Given the description of an element on the screen output the (x, y) to click on. 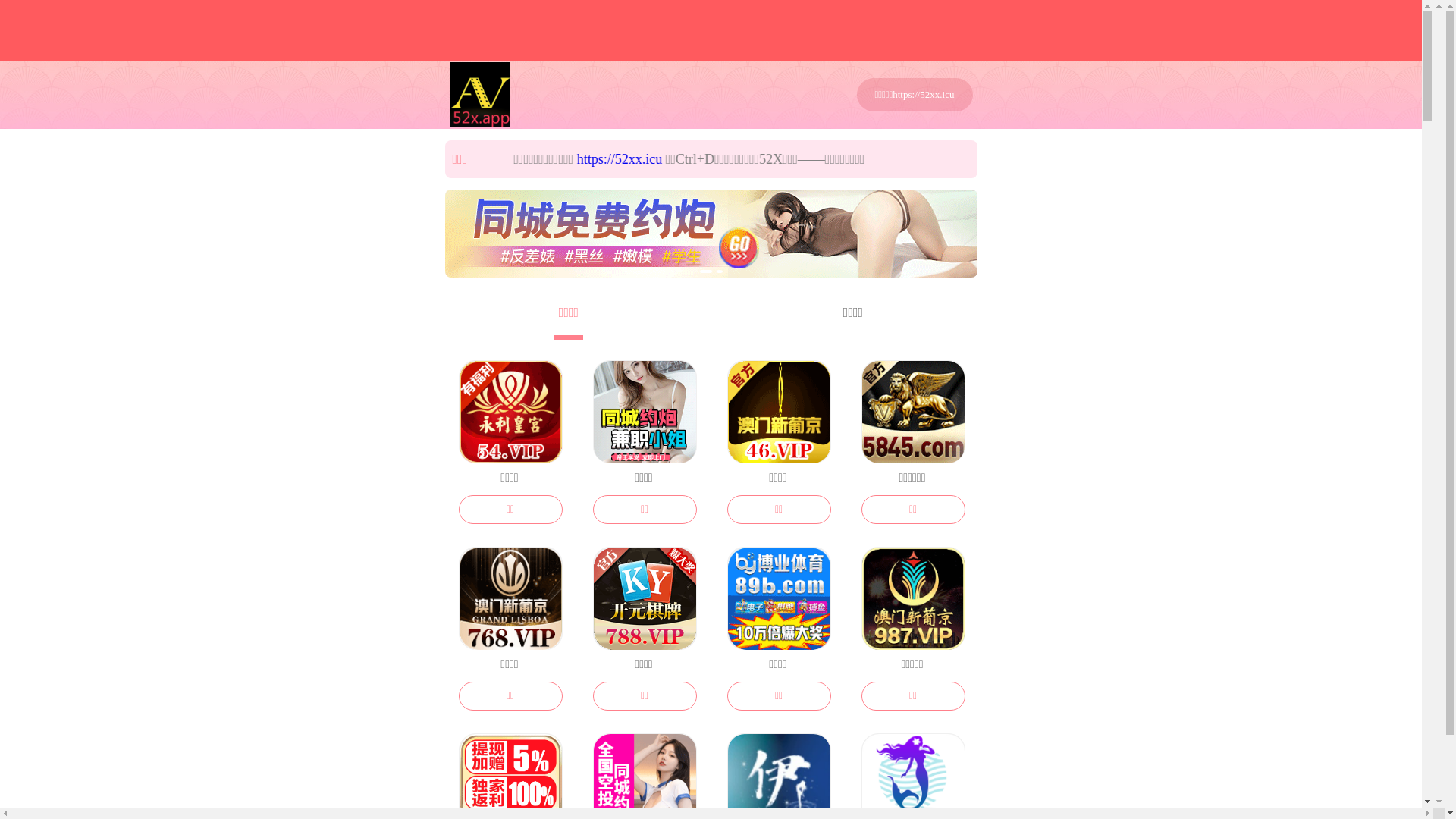
English Element type: text (1161, 36)
